Given the description of an element on the screen output the (x, y) to click on. 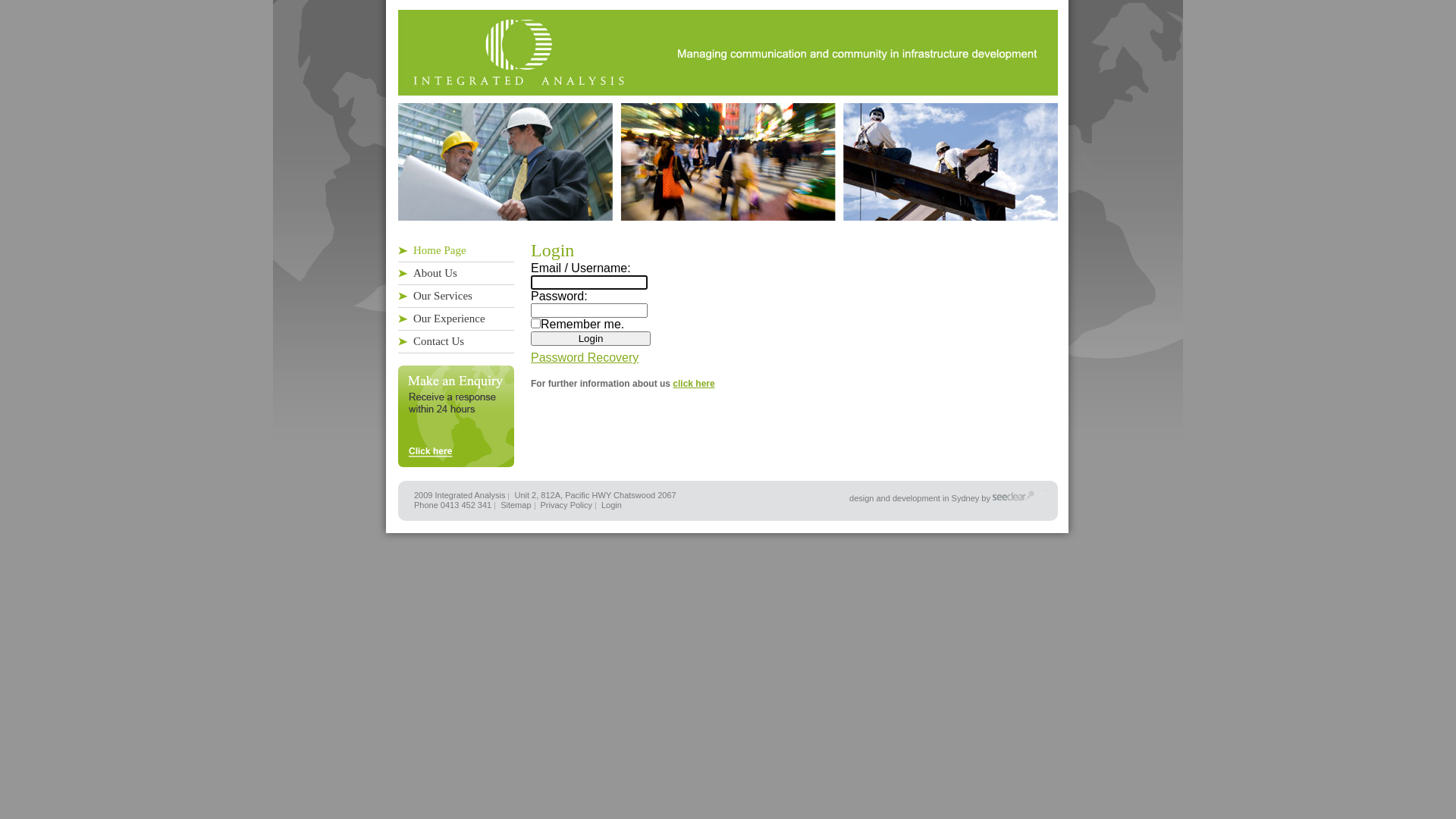
Contact Us Element type: text (456, 341)
click here Element type: text (693, 383)
Our Services Element type: text (456, 296)
Home Page Element type: text (456, 250)
About Us Element type: text (456, 273)
Button Element type: text (16, 7)
Login Element type: text (611, 505)
design and development in Sydney by Element type: text (920, 497)
Privacy Policy Element type: text (566, 505)
   Login    Element type: text (590, 338)
Sitemap Element type: text (515, 505)
Our Experience Element type: text (456, 318)
Password Recovery Element type: text (584, 357)
Phone 0413 452 341 Element type: text (452, 505)
